Given the description of an element on the screen output the (x, y) to click on. 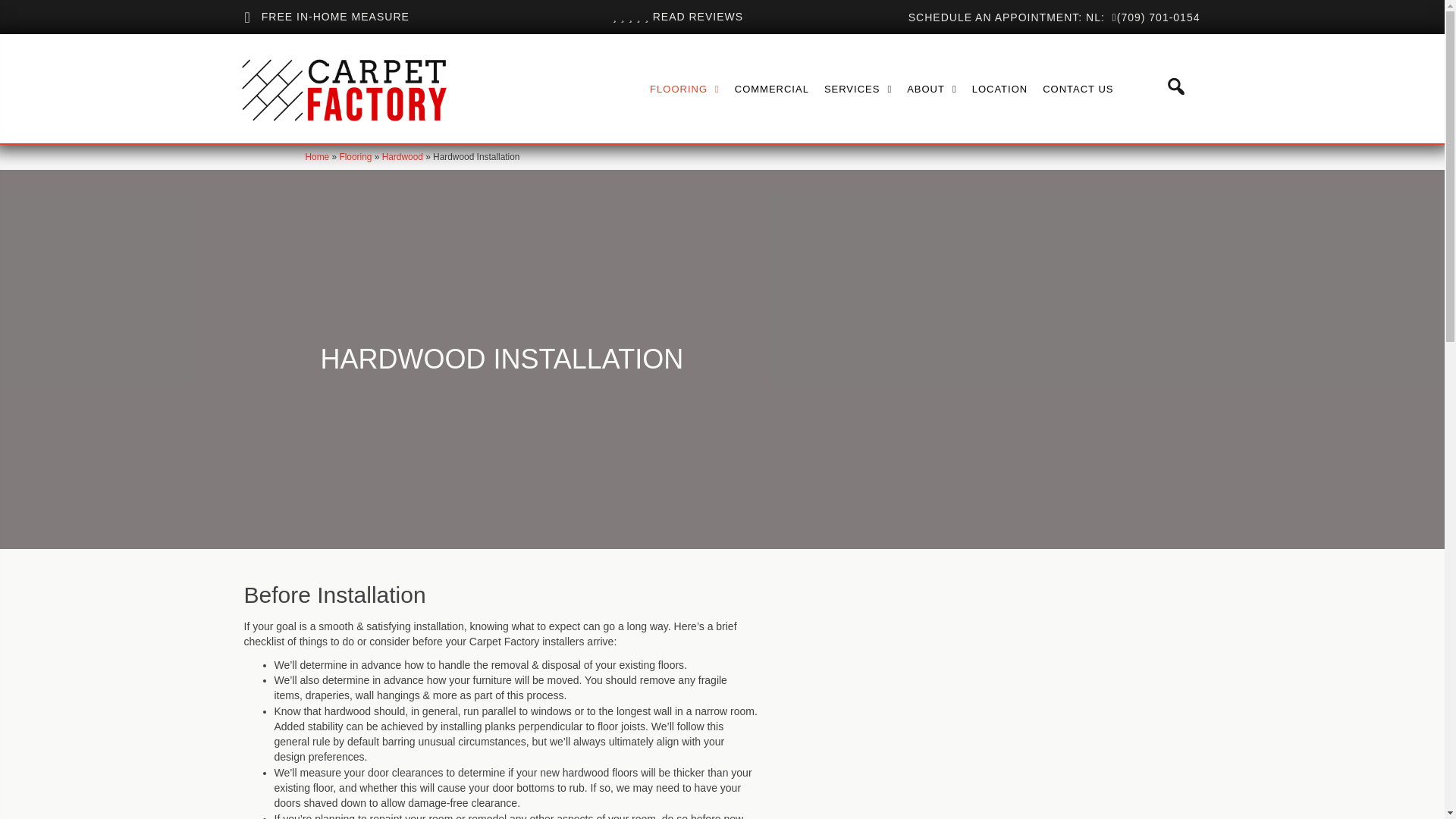
FLOORING (684, 88)
FREE IN-HOME MEASURE (335, 16)
New-logo (342, 88)
